Given the description of an element on the screen output the (x, y) to click on. 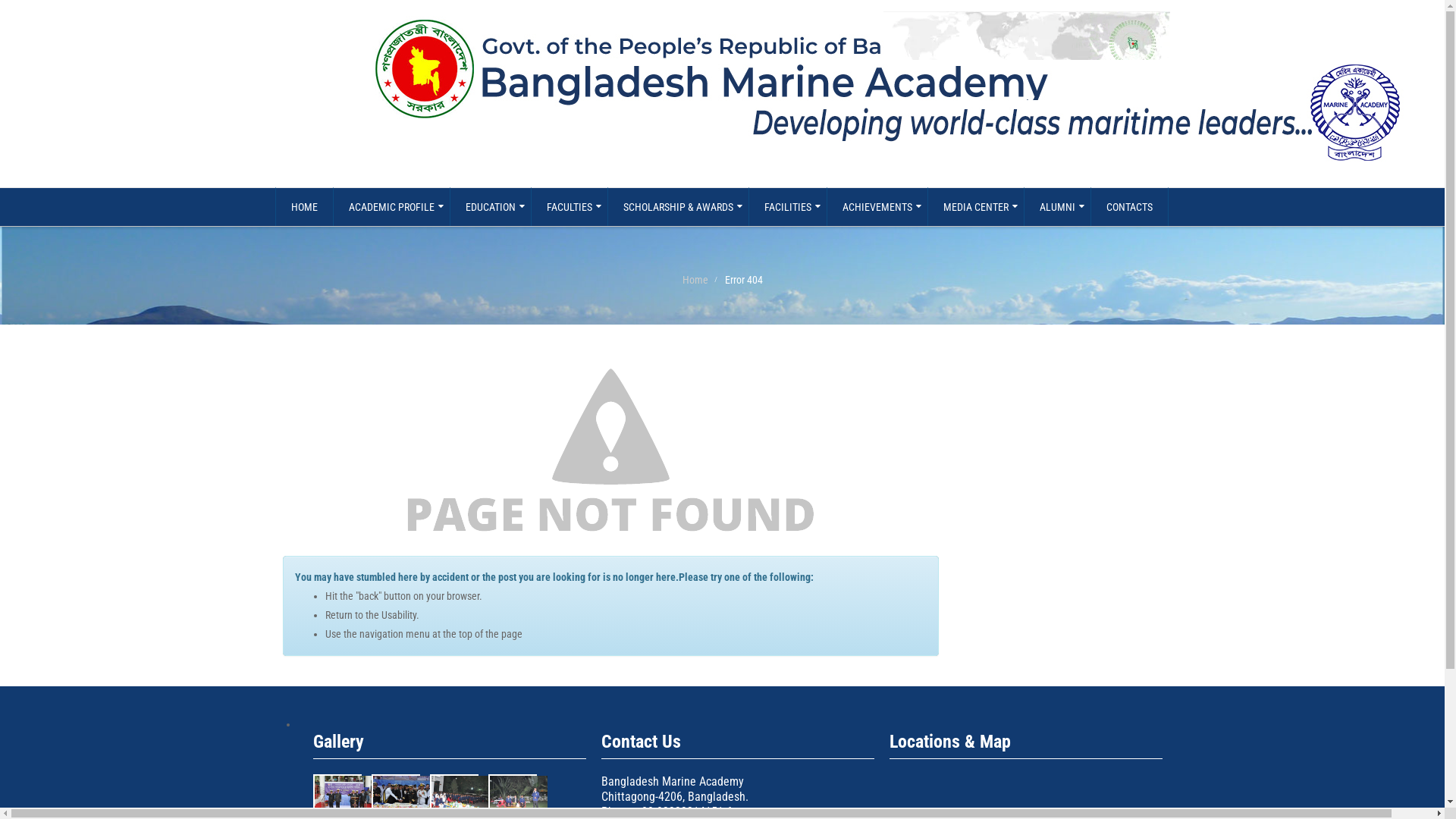
HOME Element type: text (303, 206)
FACULTIES Element type: text (569, 206)
ACADEMIC PROFILE Element type: text (390, 206)
SCHOLARSHIP & AWARDS Element type: text (677, 206)
MEDIA CENTER Element type: text (974, 206)
EDUCATION Element type: text (489, 206)
ACHIEVEMENTS Element type: text (877, 206)
FACILITIES Element type: text (786, 206)
Home Element type: text (695, 279)
CONTACTS Element type: text (1129, 206)
ALUMNI Element type: text (1057, 206)
